Given the description of an element on the screen output the (x, y) to click on. 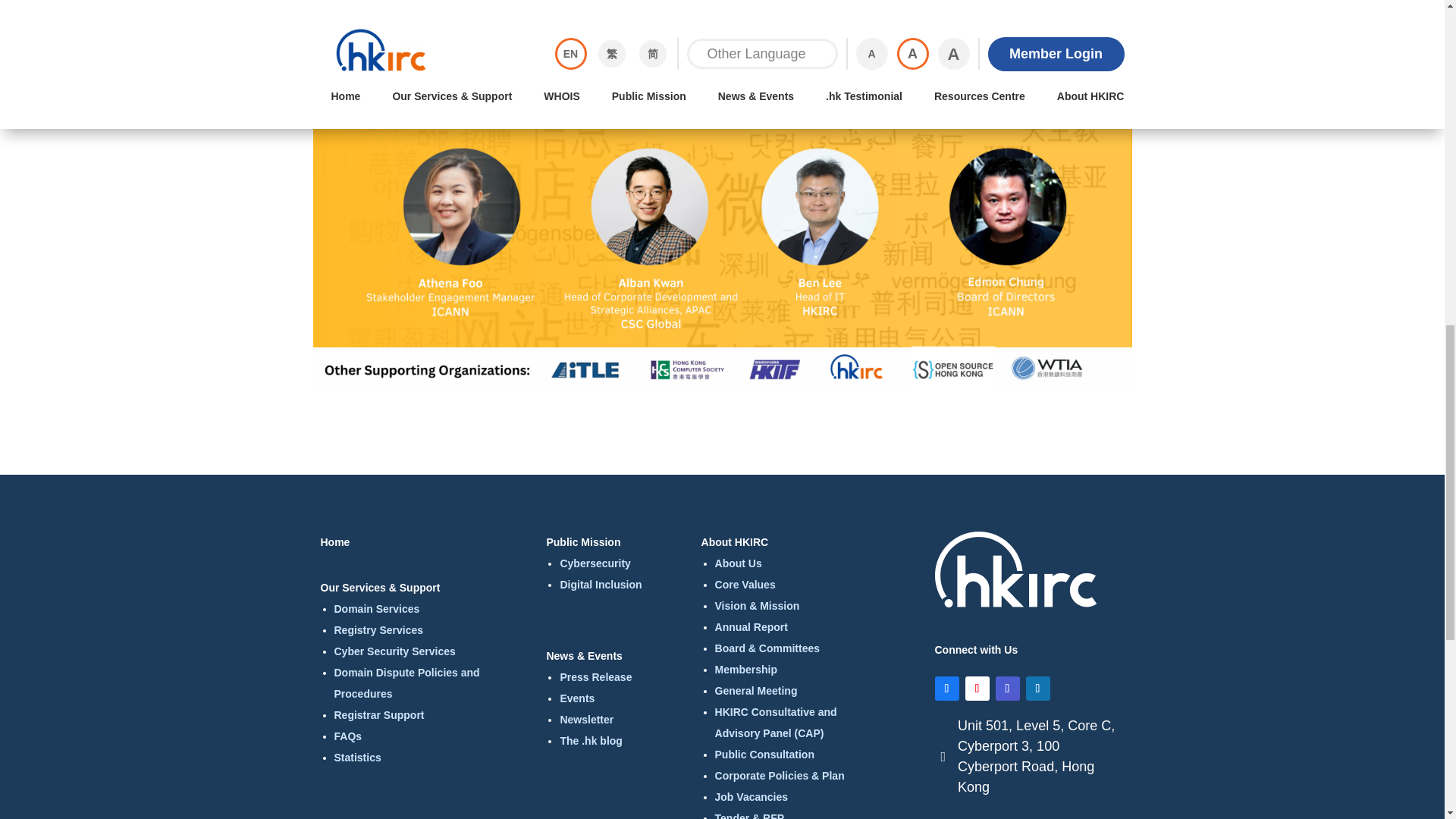
Follow on Instagram (1006, 688)
Follow on Facebook (946, 688)
Follow on Youtube (975, 688)
Follow on LinkedIn (1037, 688)
